Given the description of an element on the screen output the (x, y) to click on. 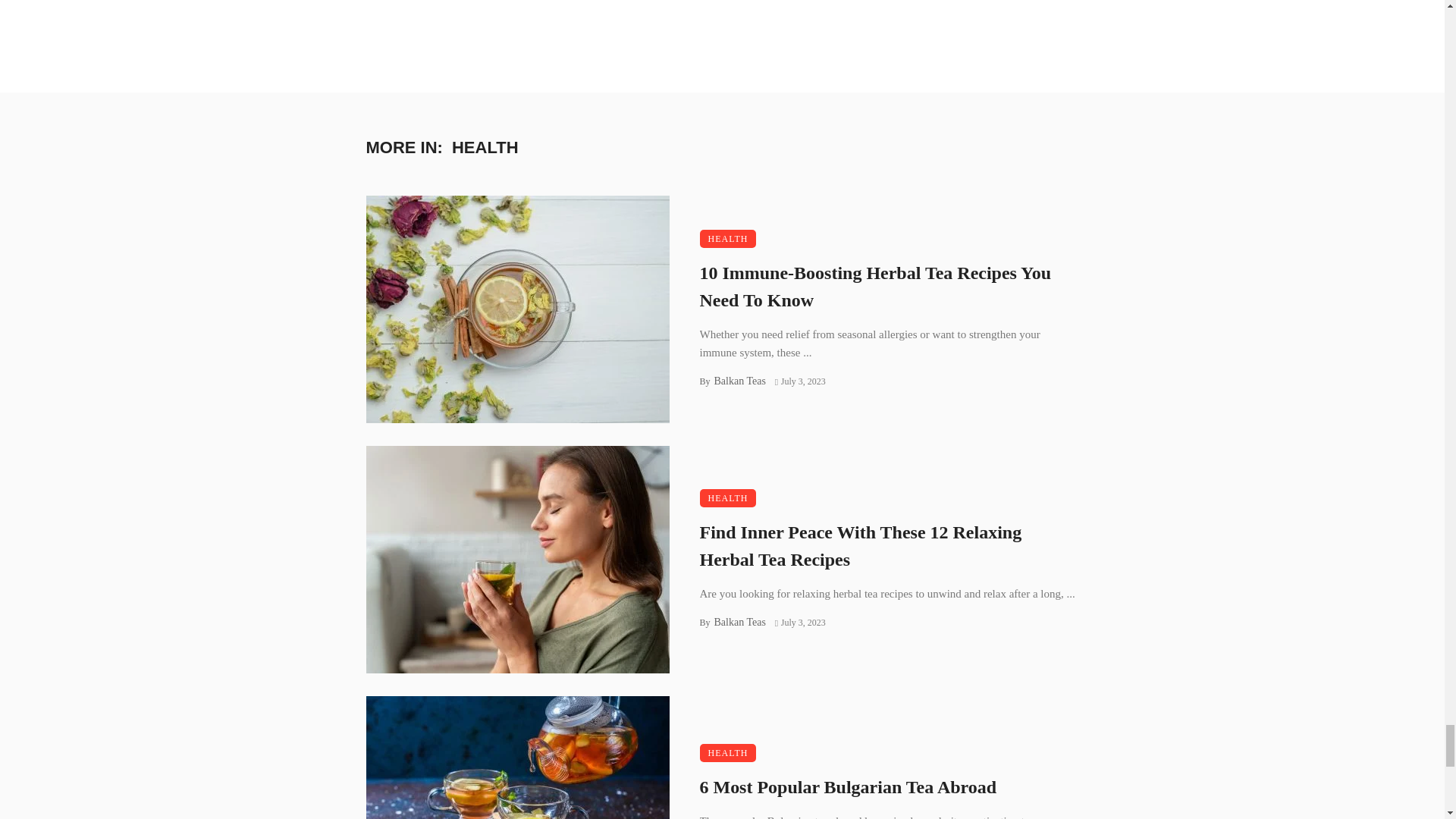
July 3, 2023 at 1:10 am (799, 380)
